Given the description of an element on the screen output the (x, y) to click on. 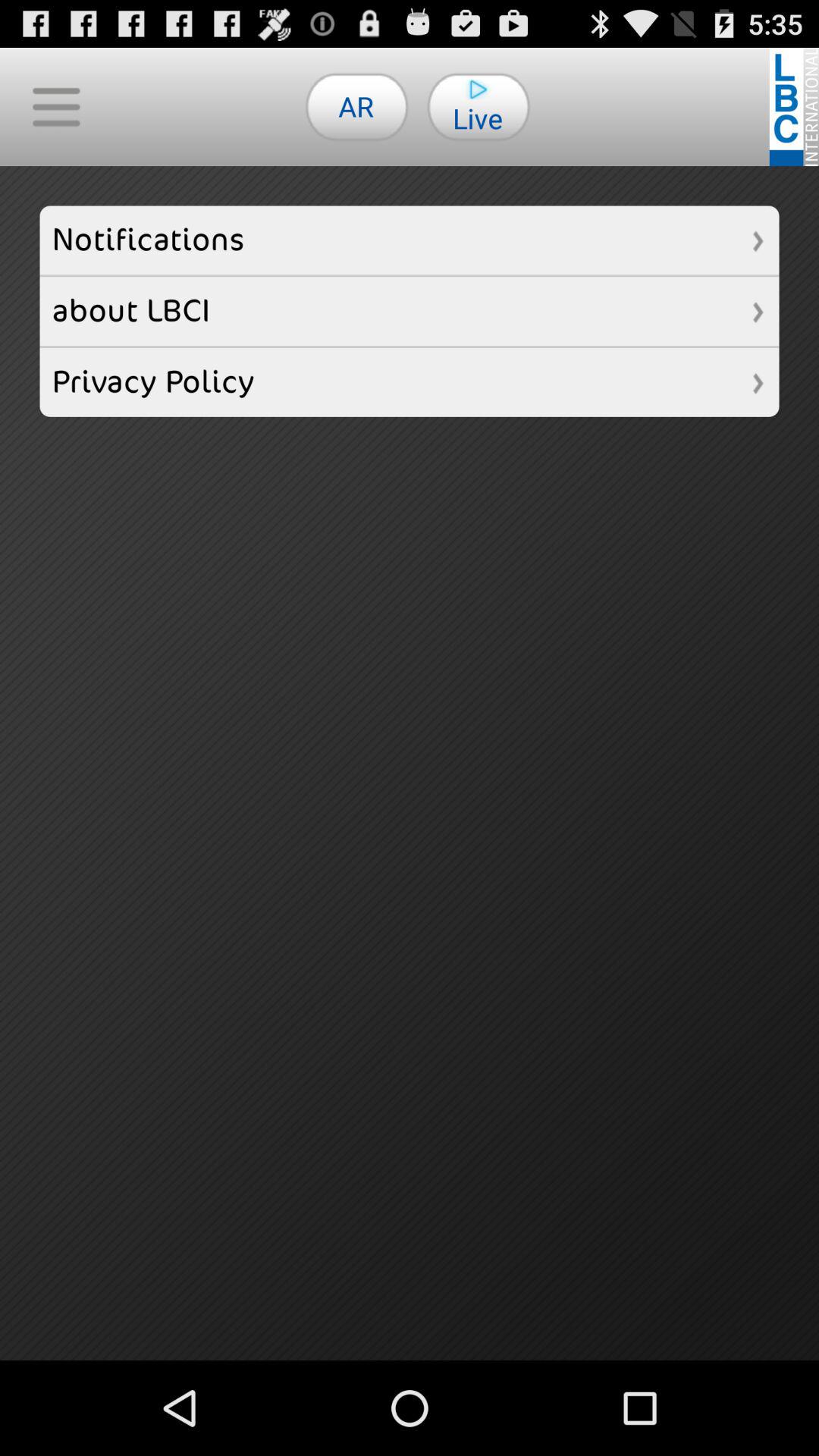
jump to notifications icon (409, 239)
